Given the description of an element on the screen output the (x, y) to click on. 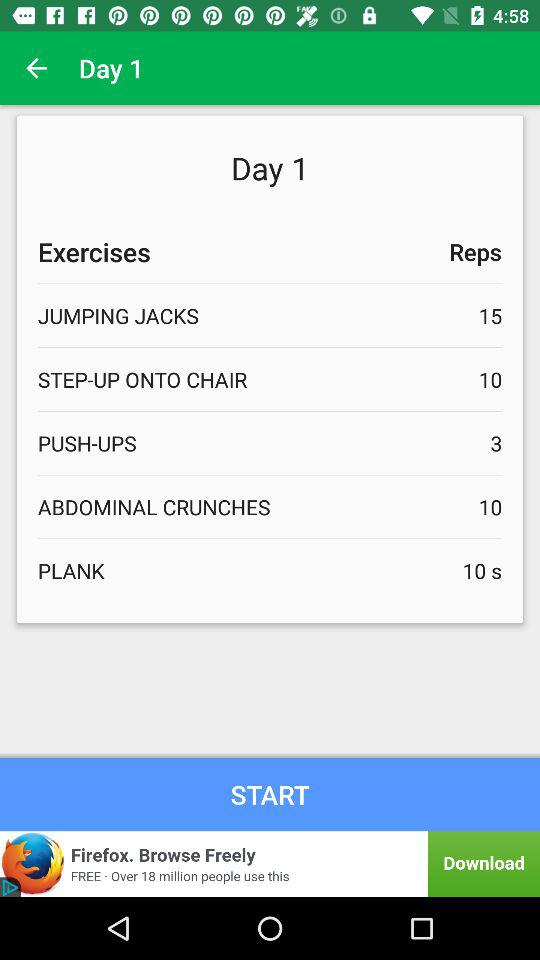
click item above the day 1 item (36, 68)
